Given the description of an element on the screen output the (x, y) to click on. 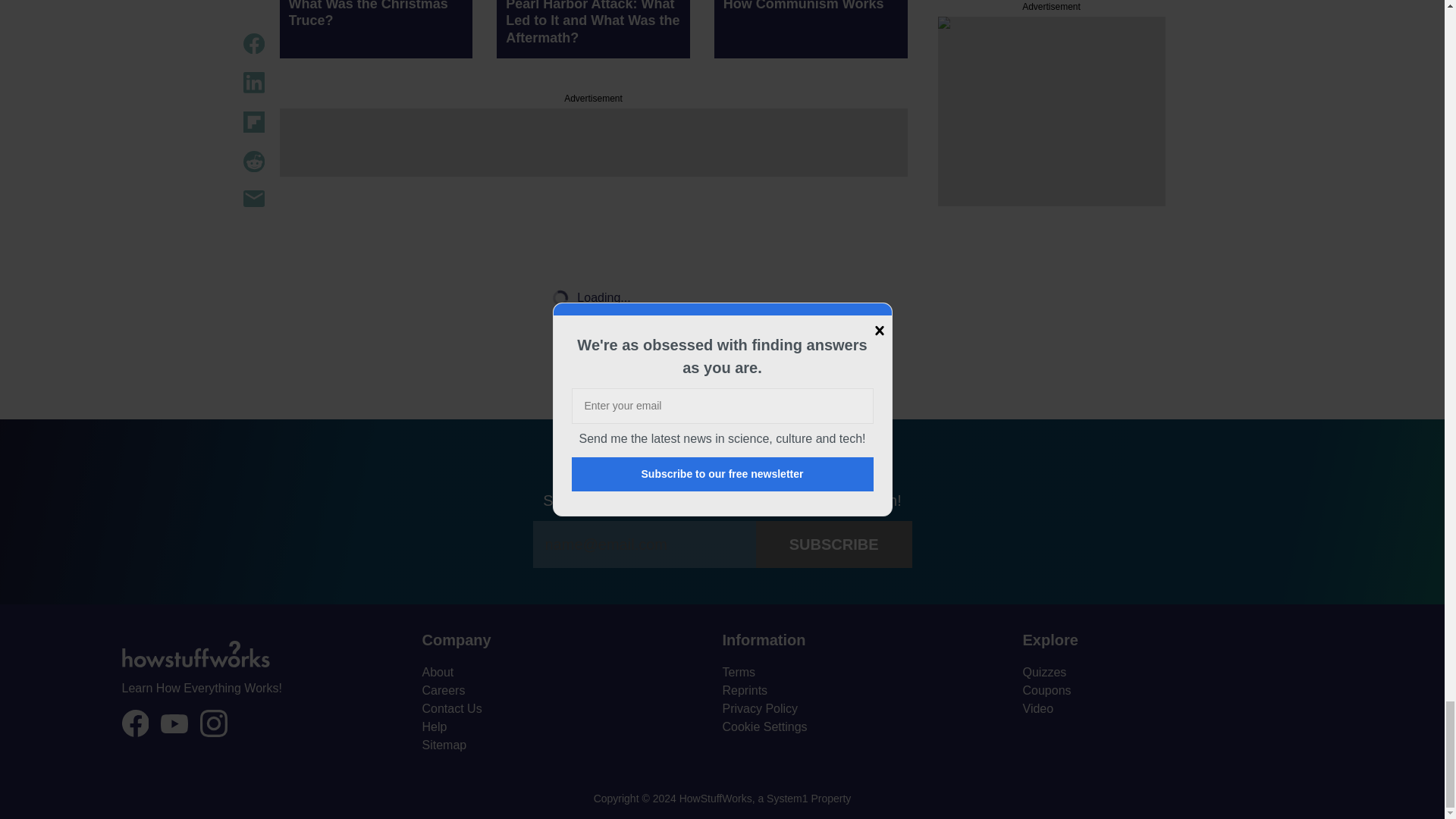
Visit HowStuffWorks on YouTube (173, 723)
Visit HowStuffWorks on Instagram (213, 723)
Visit HowStuffWorks on Facebook (134, 723)
Subscribe (833, 544)
